Given the description of an element on the screen output the (x, y) to click on. 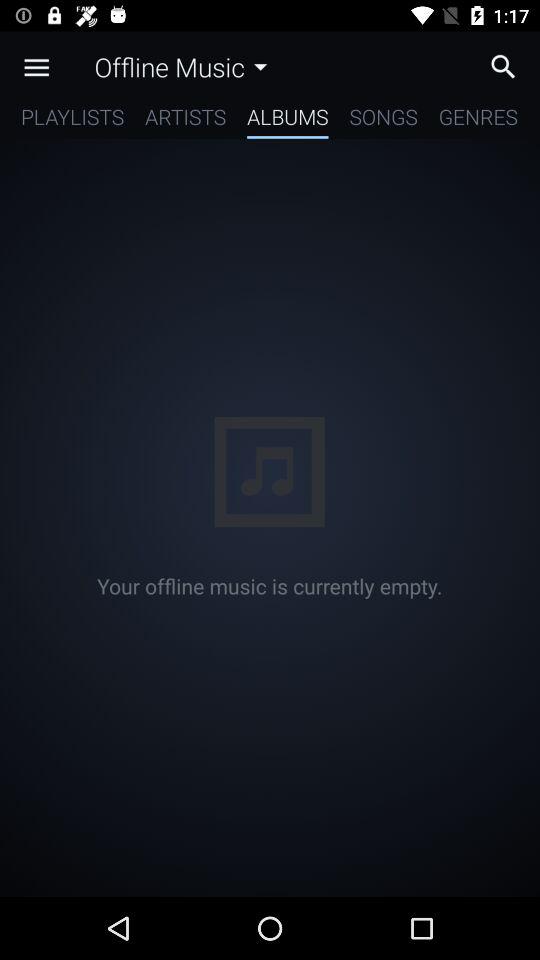
scroll until the playlists app (72, 120)
